Given the description of an element on the screen output the (x, y) to click on. 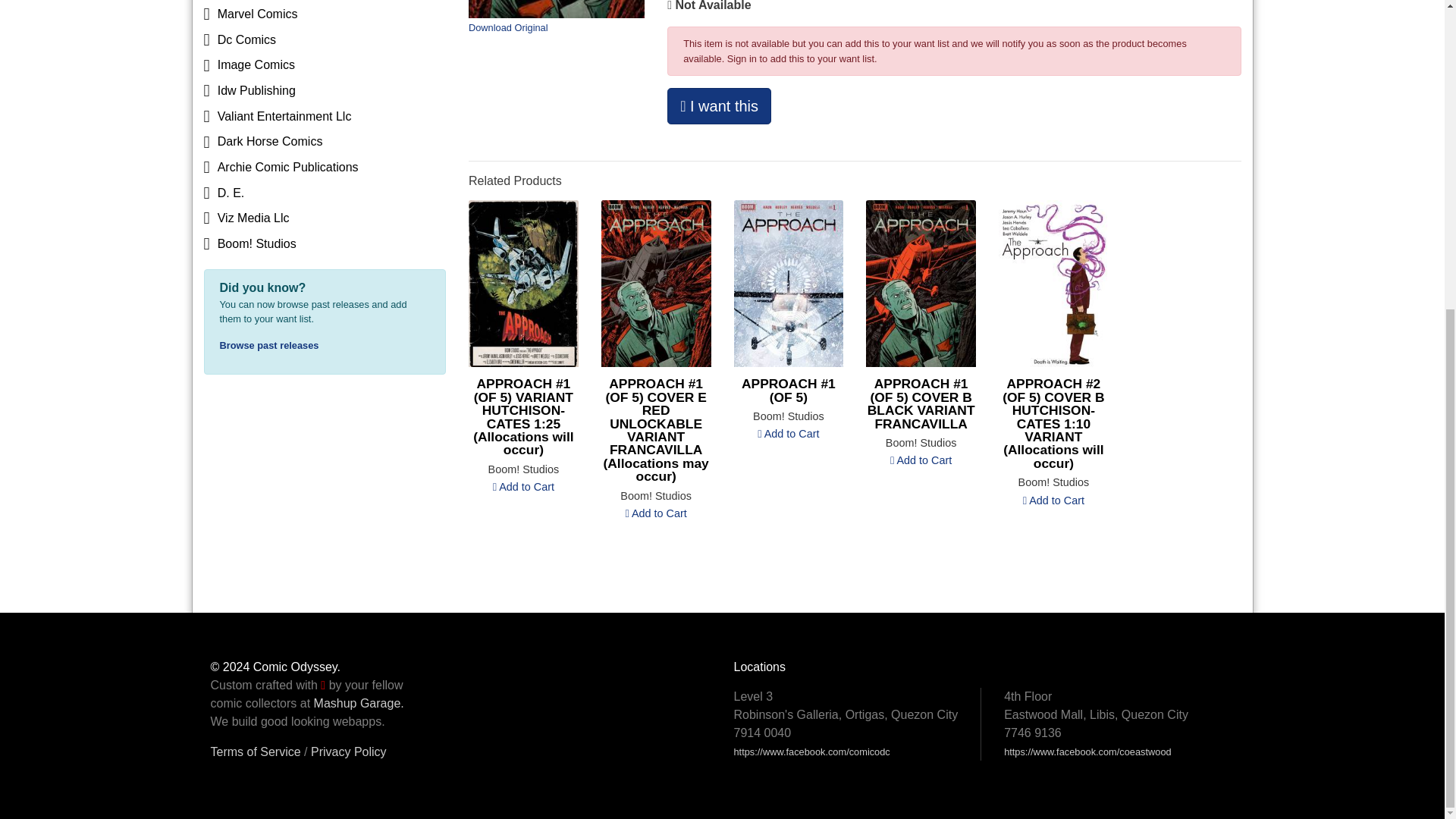
Idw Publishing (324, 90)
Valiant Entertainment Llc (324, 116)
Image Comics (324, 65)
Dc Comics (324, 40)
Marvel Comics (324, 14)
